Given the description of an element on the screen output the (x, y) to click on. 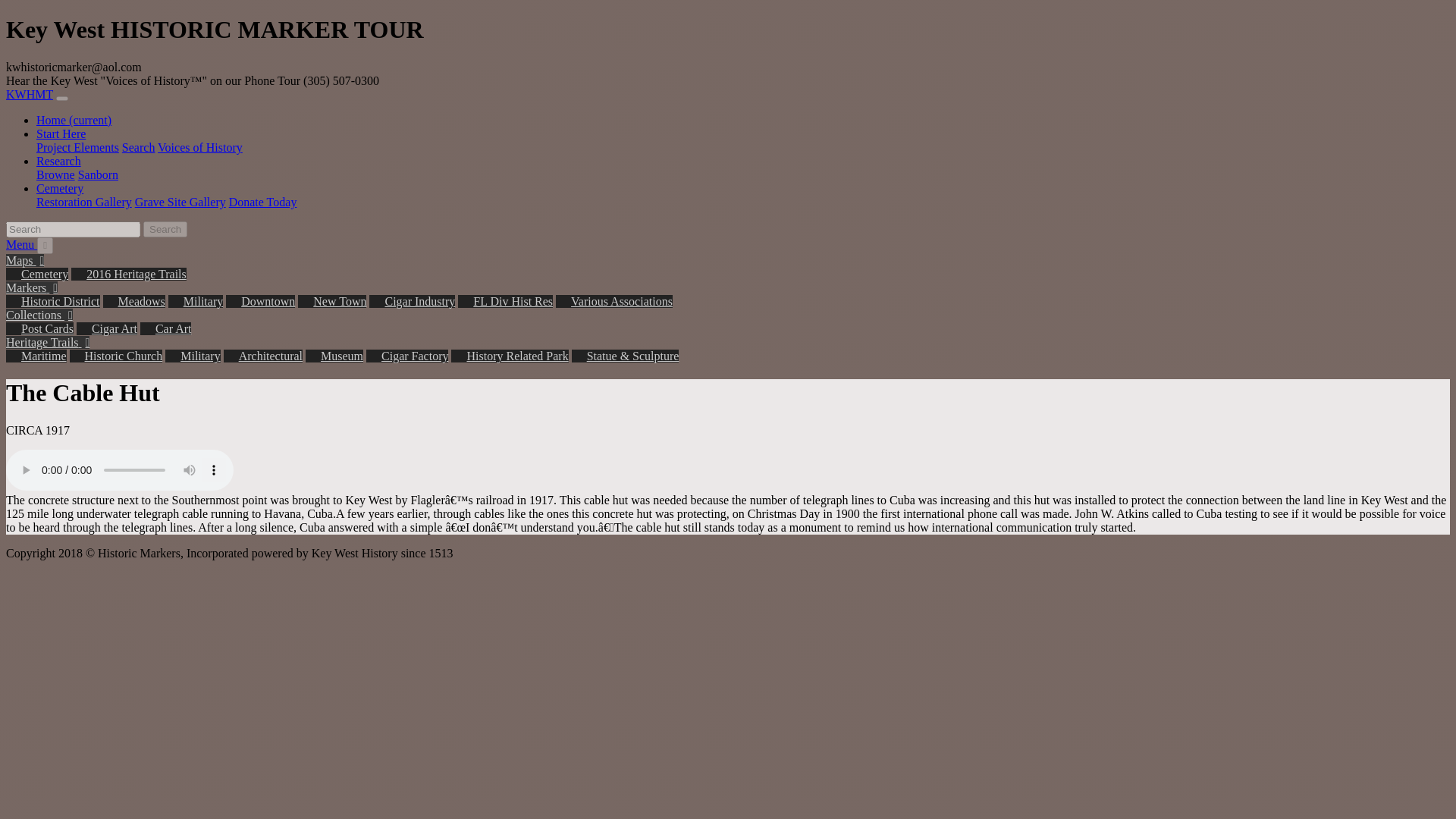
Project Elements (77, 146)
KWHMT (28, 93)
Browne (55, 174)
Cigar Industry (411, 300)
Post Cards (39, 328)
Restoration Gallery (84, 201)
Search (164, 229)
Maps (24, 259)
Collections (38, 314)
Meadows (134, 300)
Search (138, 146)
Cemetery (59, 187)
Historic Church (116, 355)
Start Here (60, 133)
Grave Site Gallery (180, 201)
